Given the description of an element on the screen output the (x, y) to click on. 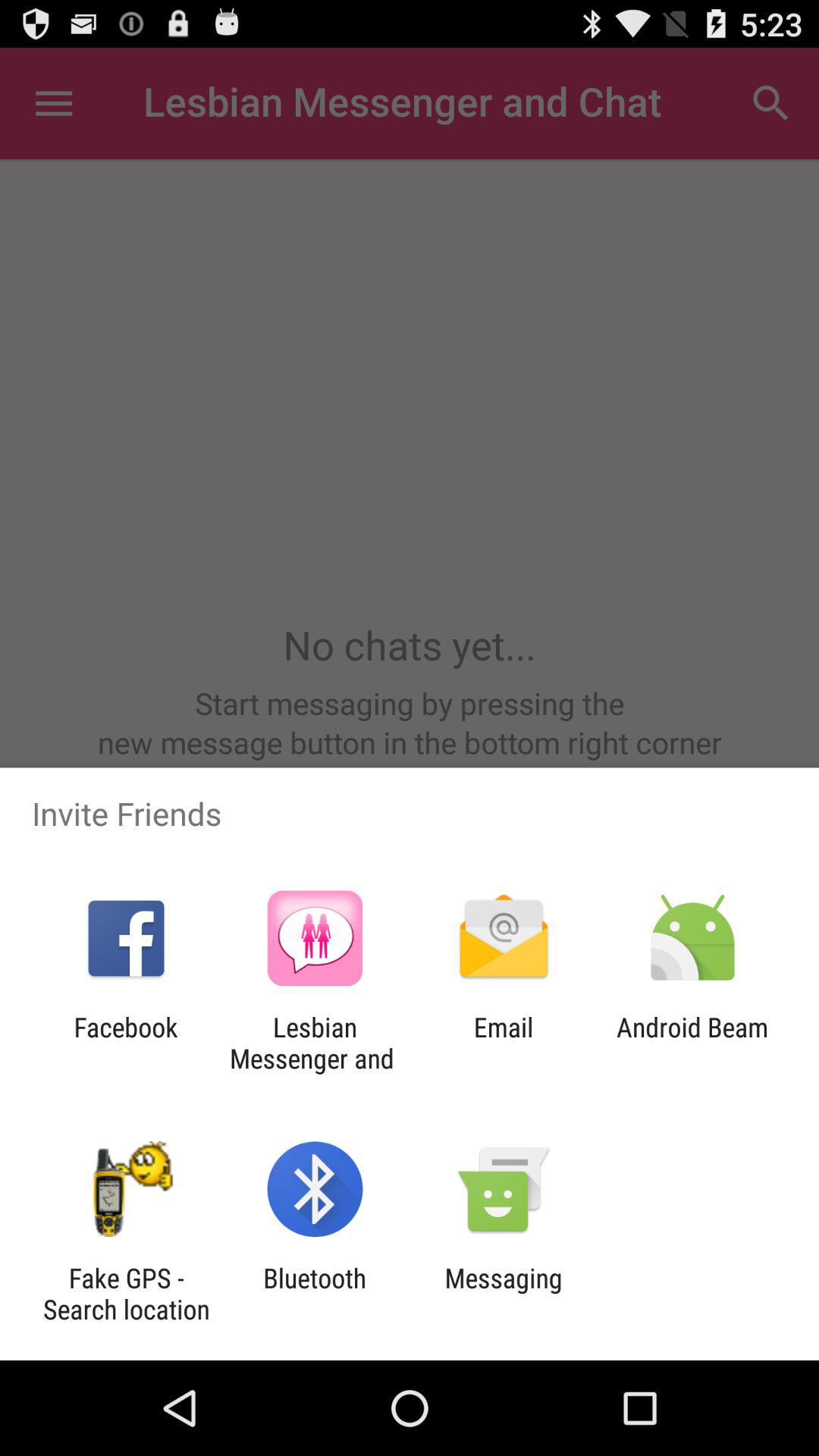
tap the app next to the facebook (314, 1042)
